Given the description of an element on the screen output the (x, y) to click on. 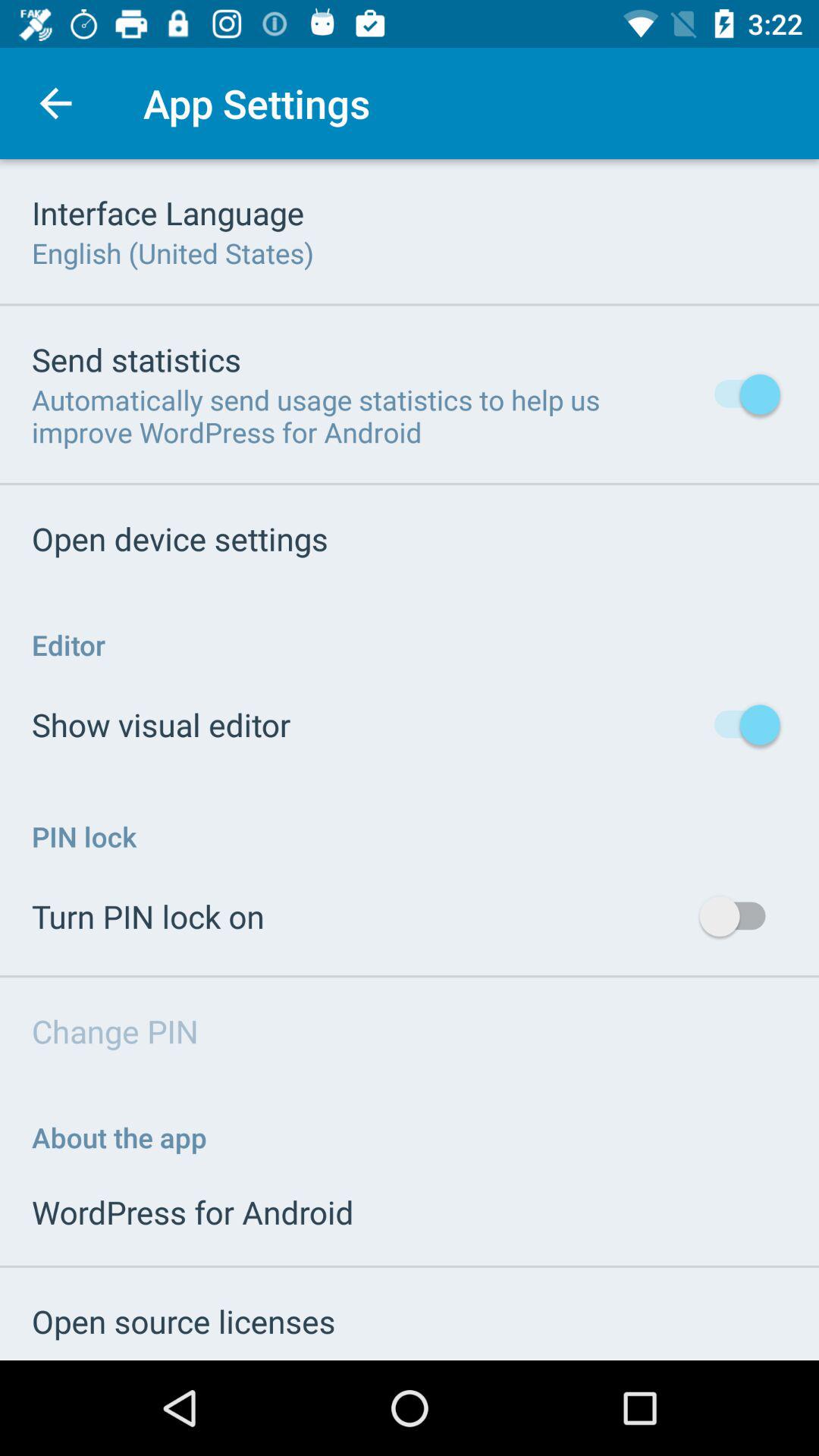
open interface language icon (167, 212)
